Given the description of an element on the screen output the (x, y) to click on. 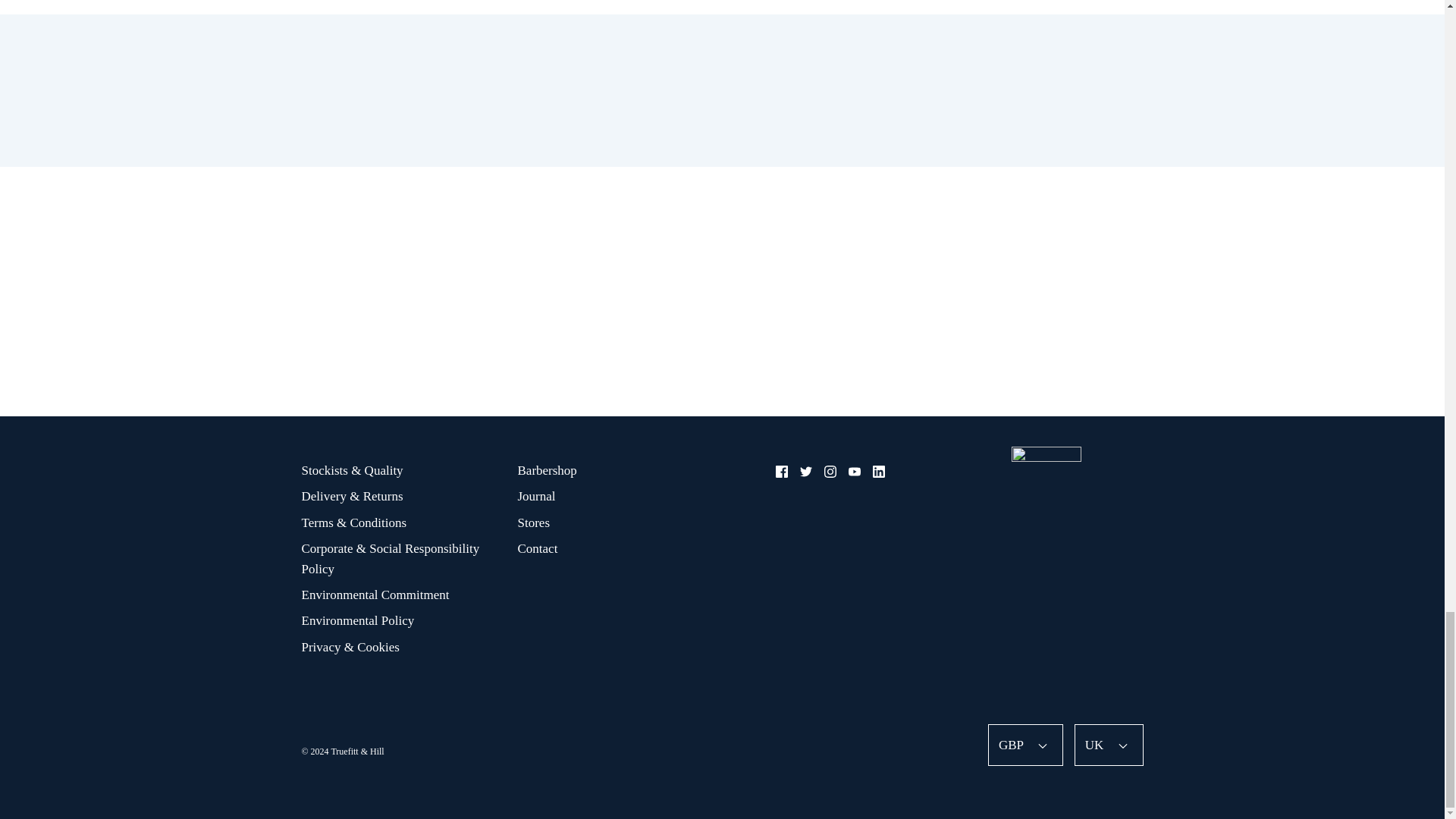
Facebook icon (781, 471)
LinkedIn icon (878, 471)
YouTube icon (854, 471)
Instagram icon (829, 471)
Twitter icon (805, 471)
